Given the description of an element on the screen output the (x, y) to click on. 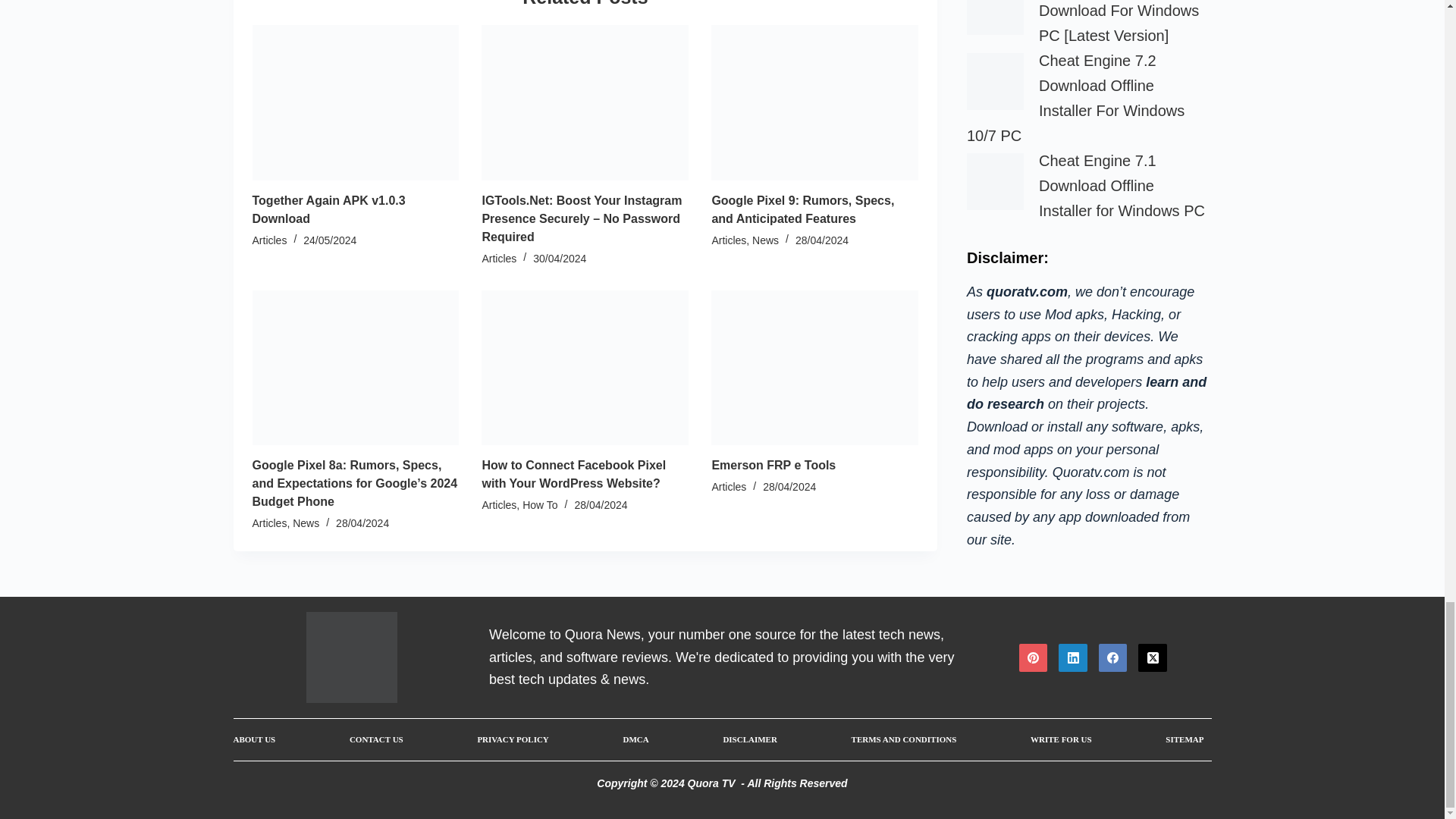
Articles (268, 240)
Together Again APK v1.0.3 Download (327, 209)
